Given the description of an element on the screen output the (x, y) to click on. 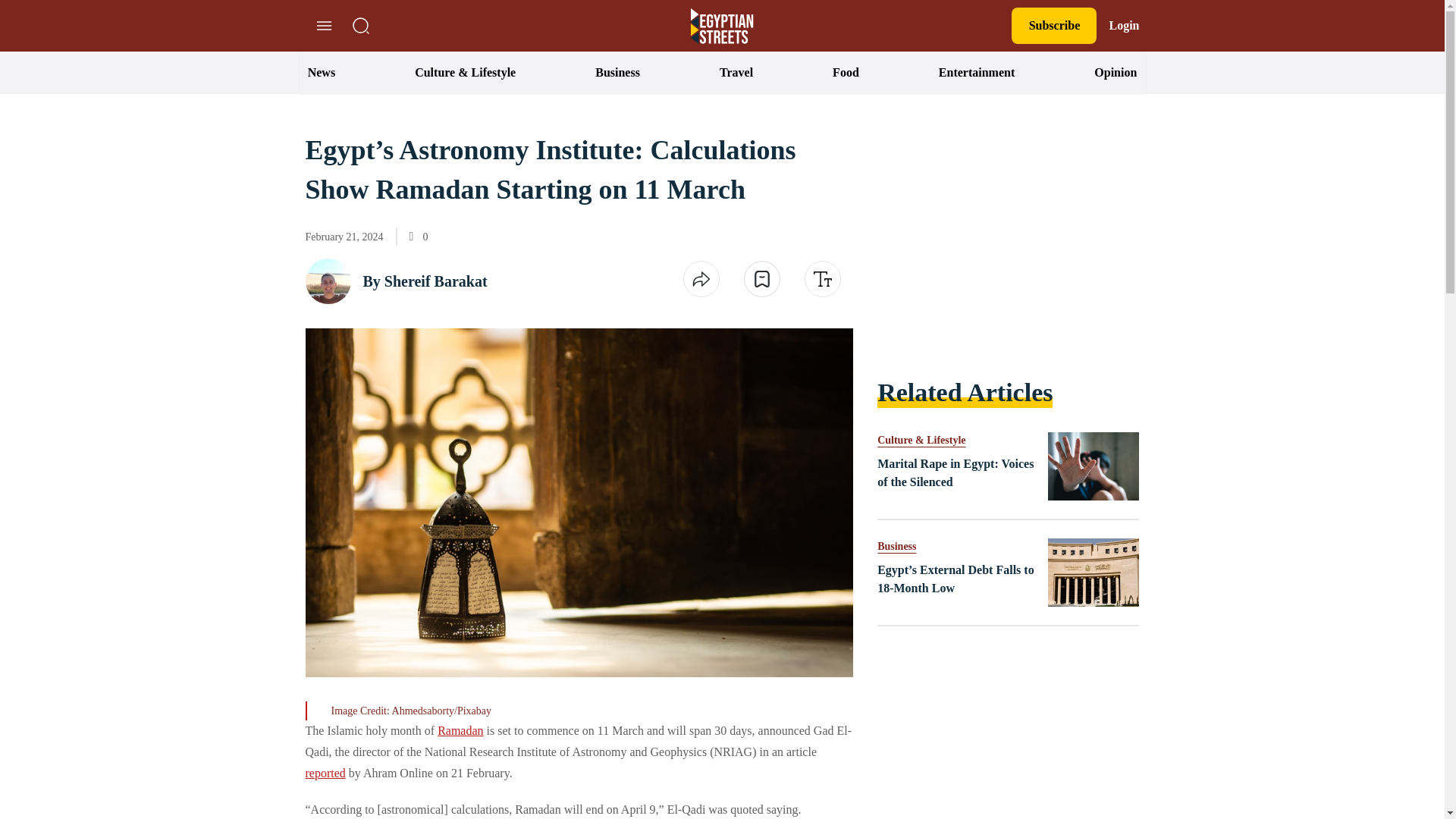
Subscribe (1053, 25)
Login (1123, 25)
